Given the description of an element on the screen output the (x, y) to click on. 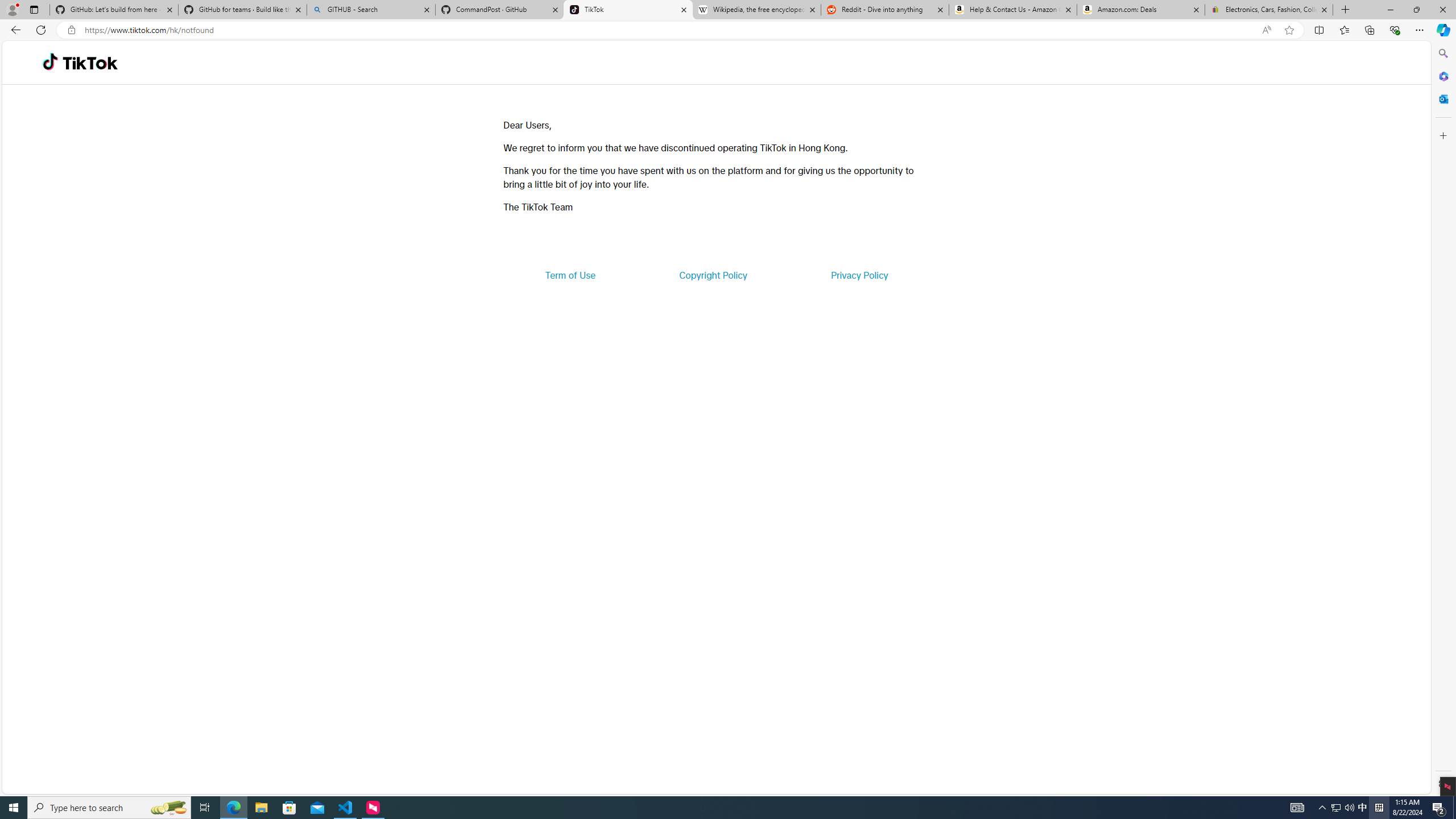
Term of Use (569, 274)
TikTok (89, 62)
GITHUB - Search (370, 9)
Copyright Policy (712, 274)
